Given the description of an element on the screen output the (x, y) to click on. 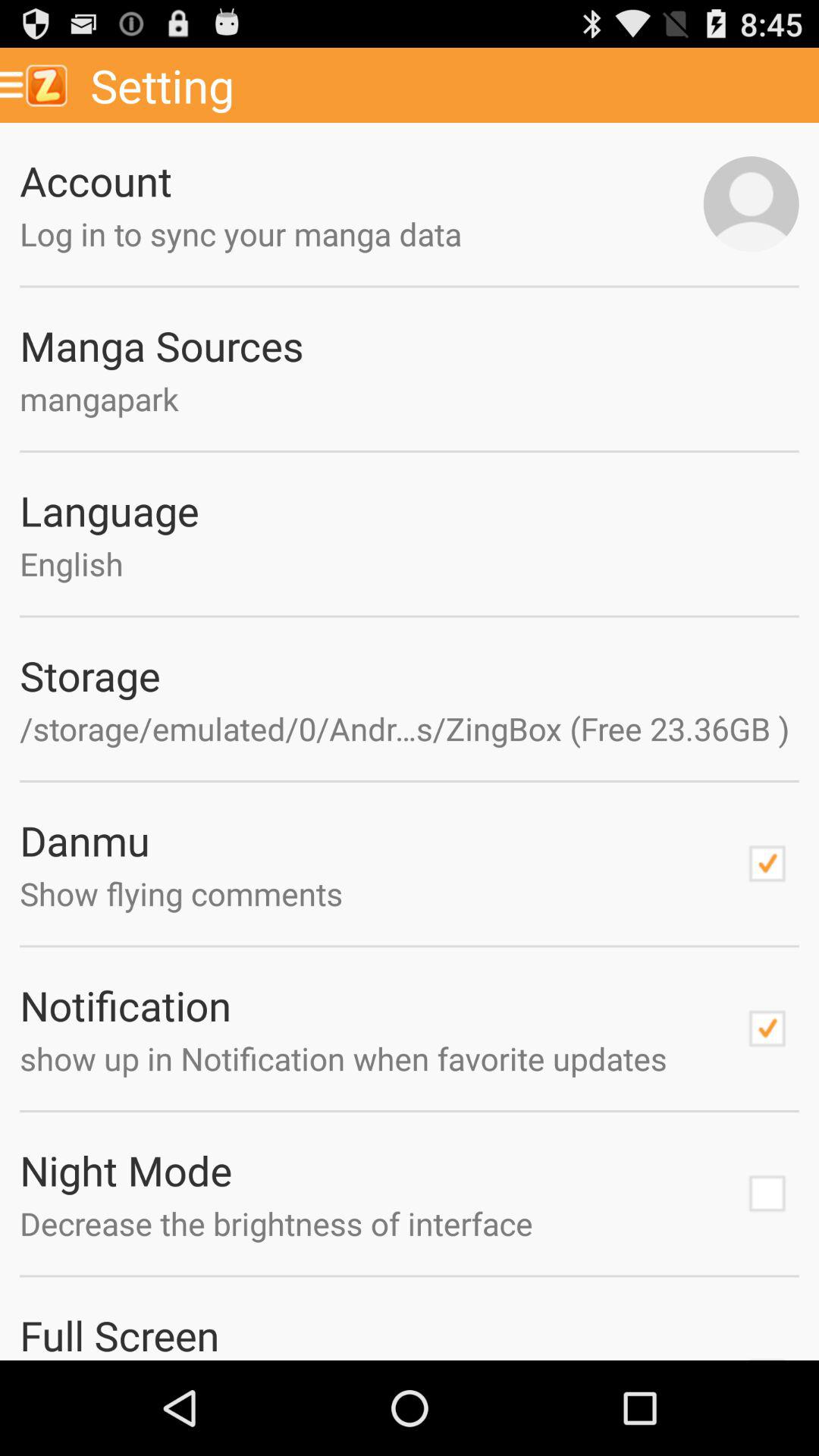
change your avatar (751, 203)
